Given the description of an element on the screen output the (x, y) to click on. 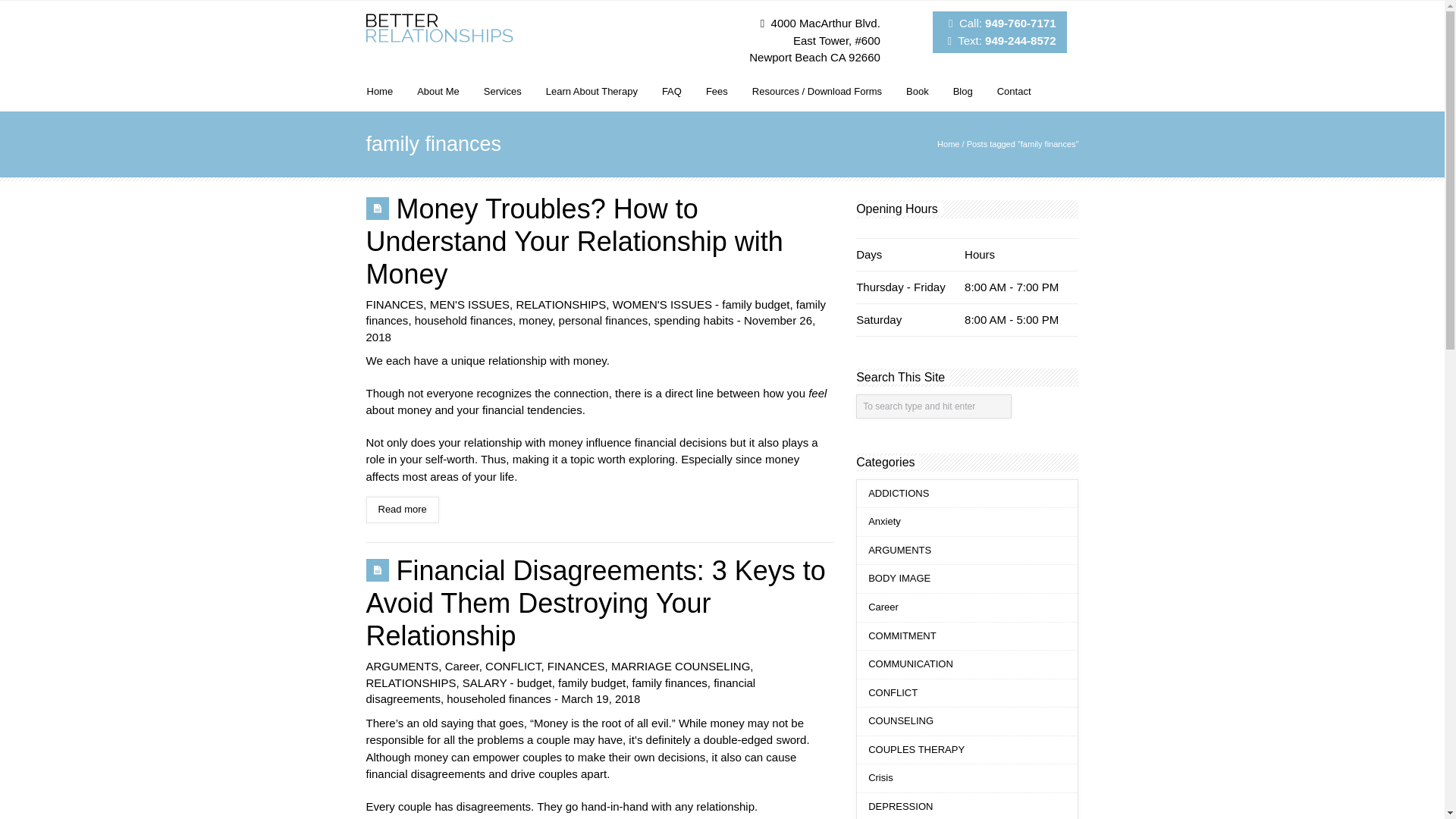
About Me (438, 90)
To search type and hit enter (933, 405)
Fees (716, 90)
7:16 PM (600, 698)
949-760-7171 (1020, 22)
To search type and hit enter (933, 405)
Home (379, 90)
Contact (1013, 90)
949-244-8572 (1020, 39)
Learn About Therapy (591, 90)
Book (917, 90)
3:18 PM (590, 328)
Home (948, 143)
